Given the description of an element on the screen output the (x, y) to click on. 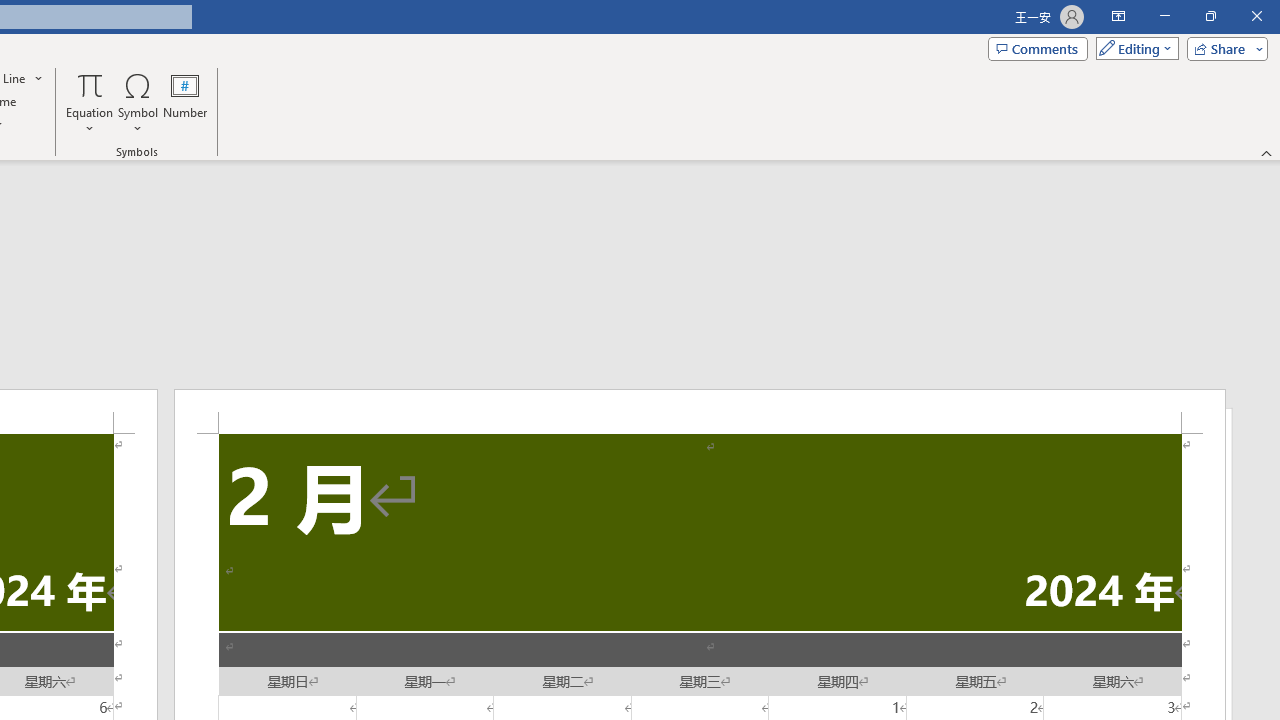
Header -Section 2- (700, 411)
Equation (90, 84)
Number... (185, 102)
Mode (1133, 47)
Symbol (138, 102)
